Given the description of an element on the screen output the (x, y) to click on. 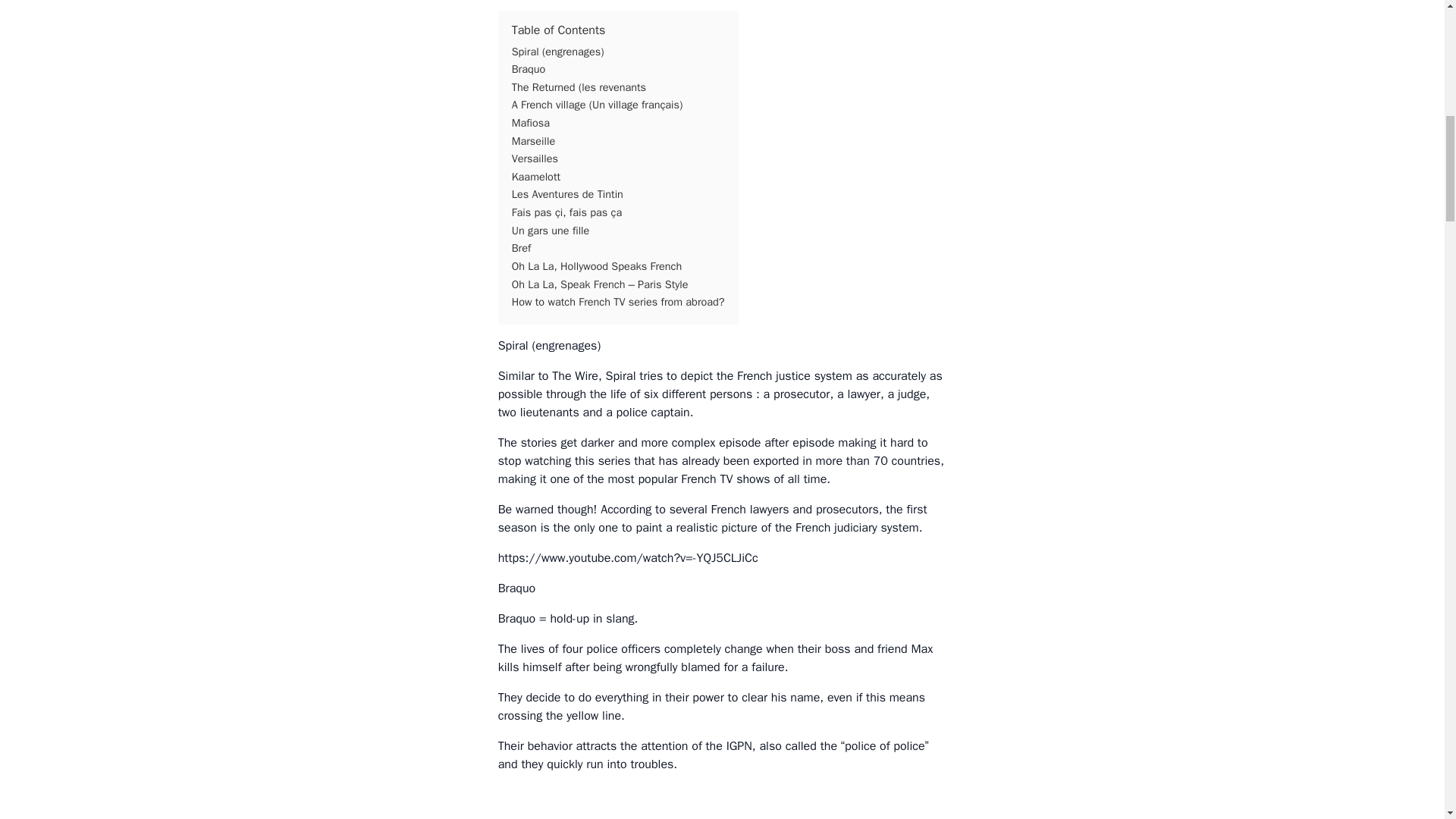
IGPN (739, 745)
Braquo (529, 69)
Mafiosa (531, 122)
Versailles (534, 158)
Marseille (533, 141)
Les Aventures de Tintin (567, 193)
French justice system (793, 376)
Un gars une fille (550, 230)
How to watch French TV series from abroad? (618, 301)
Kaamelott (536, 176)
